Given the description of an element on the screen output the (x, y) to click on. 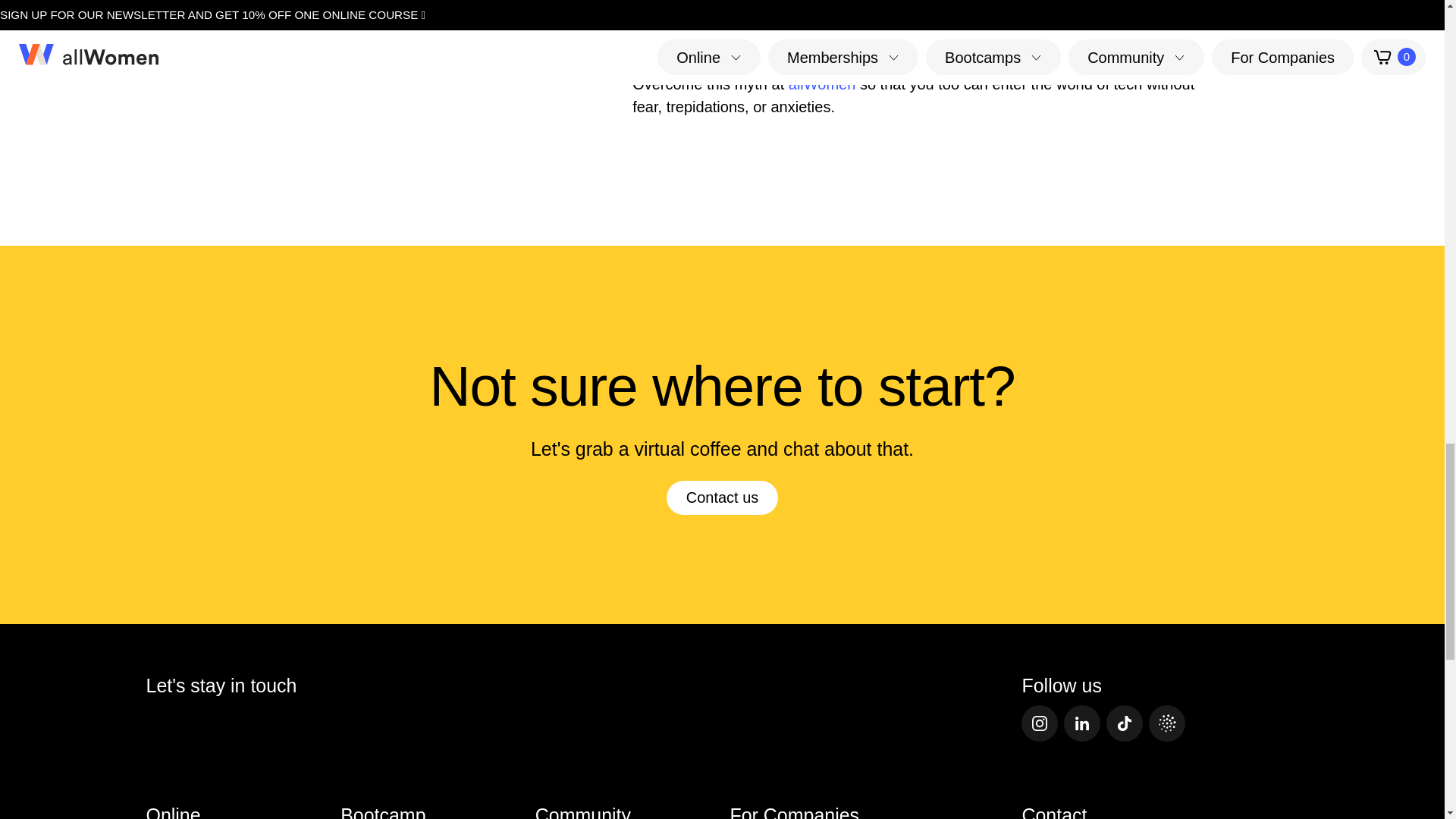
allWomen (822, 84)
Contact us (722, 497)
